Given the description of an element on the screen output the (x, y) to click on. 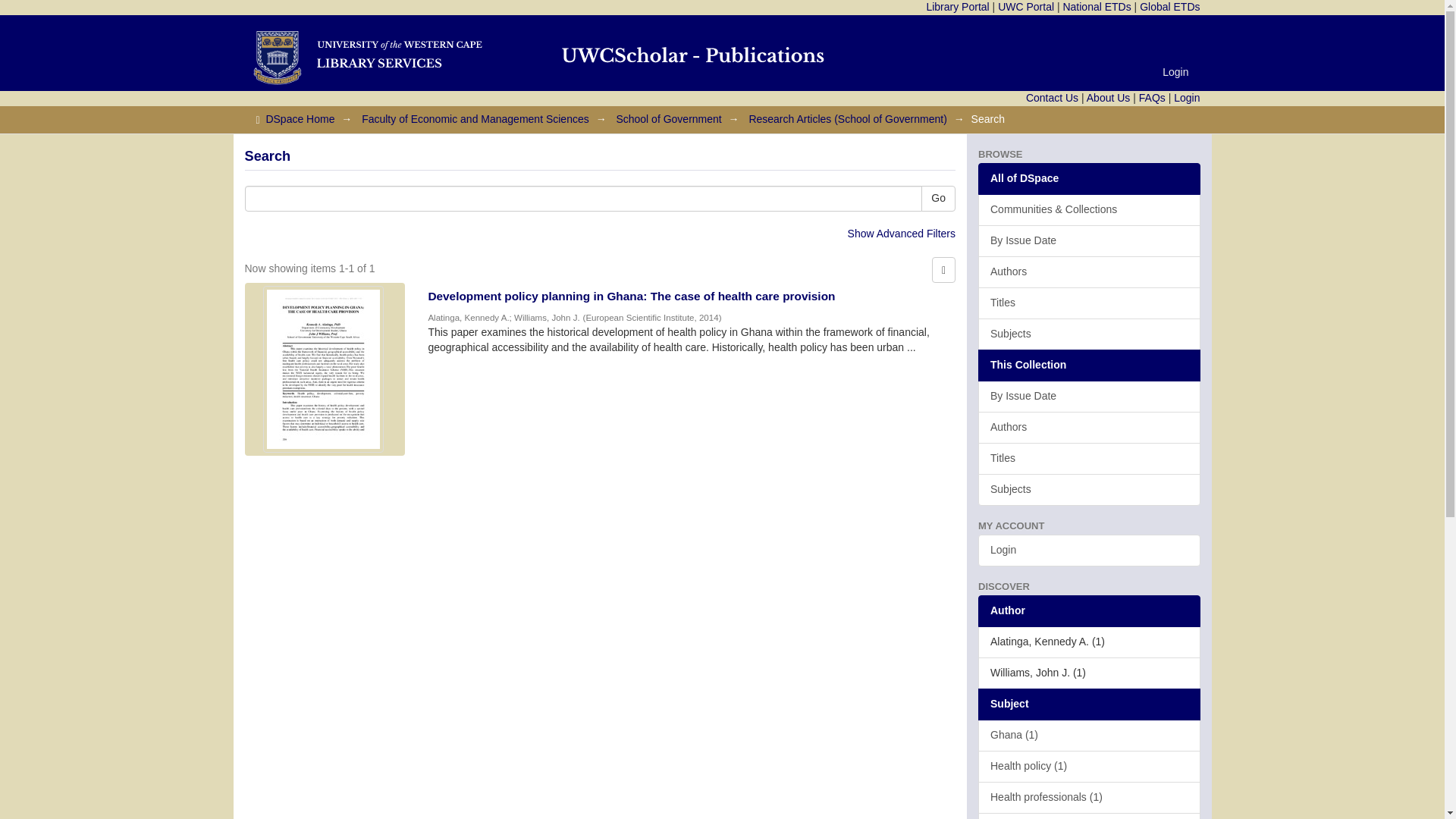
School of Government (667, 119)
Library Portal (957, 6)
FAQs (1152, 97)
Login (1186, 97)
Global ETDs (1169, 6)
Contact Us (1052, 97)
Login (1175, 71)
Faculty of Economic and Management Sciences (475, 119)
Show Advanced Filters (901, 233)
DSpace Home (299, 119)
National ETDs (1096, 6)
Go (938, 198)
About Us (1108, 97)
UWC Portal (1025, 6)
